Given the description of an element on the screen output the (x, y) to click on. 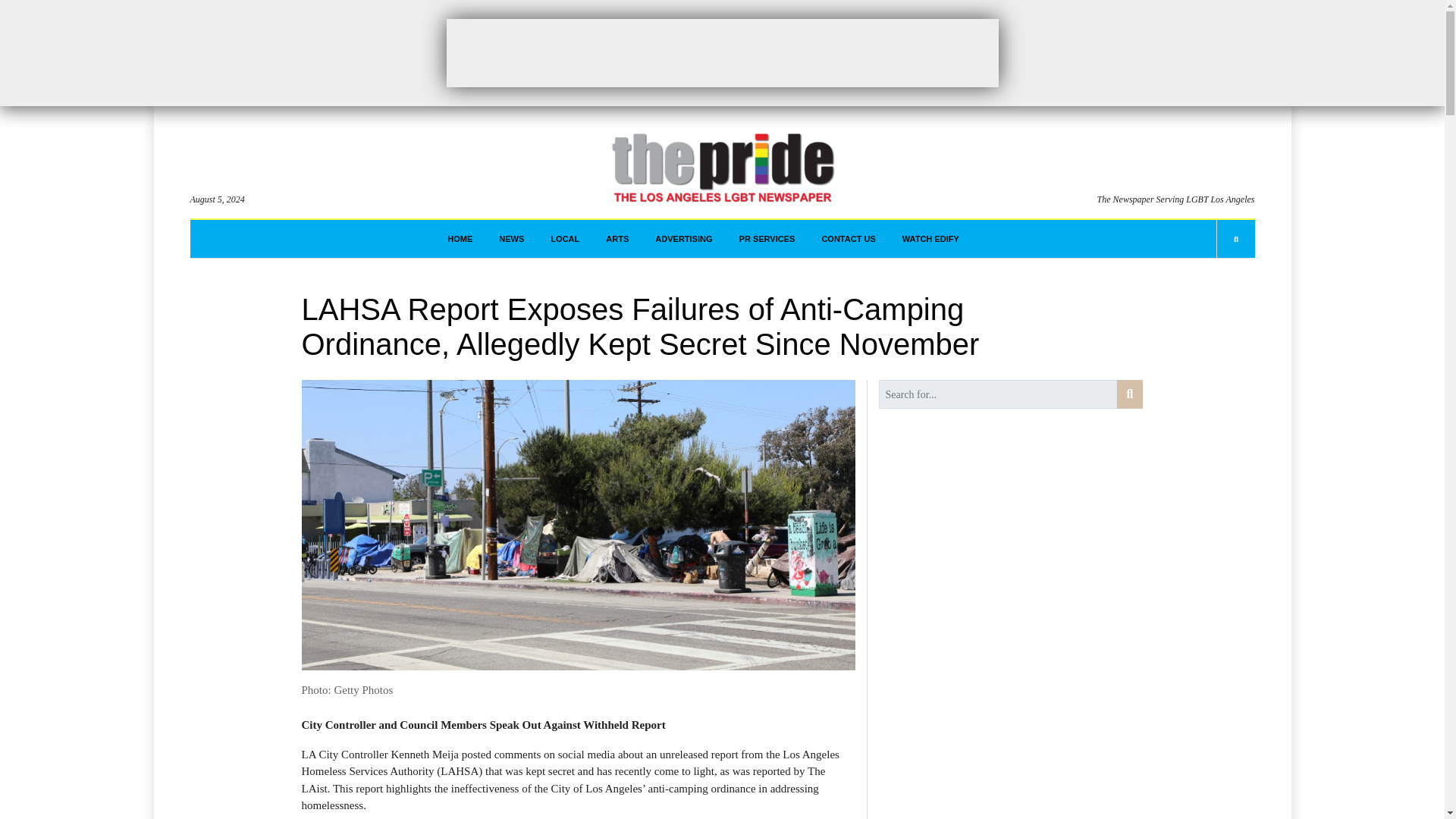
PR SERVICES (766, 238)
3rd party ad content (721, 52)
ADVERTISING (683, 238)
WATCH EDIFY (930, 238)
CONTACT US (848, 238)
